Given the description of an element on the screen output the (x, y) to click on. 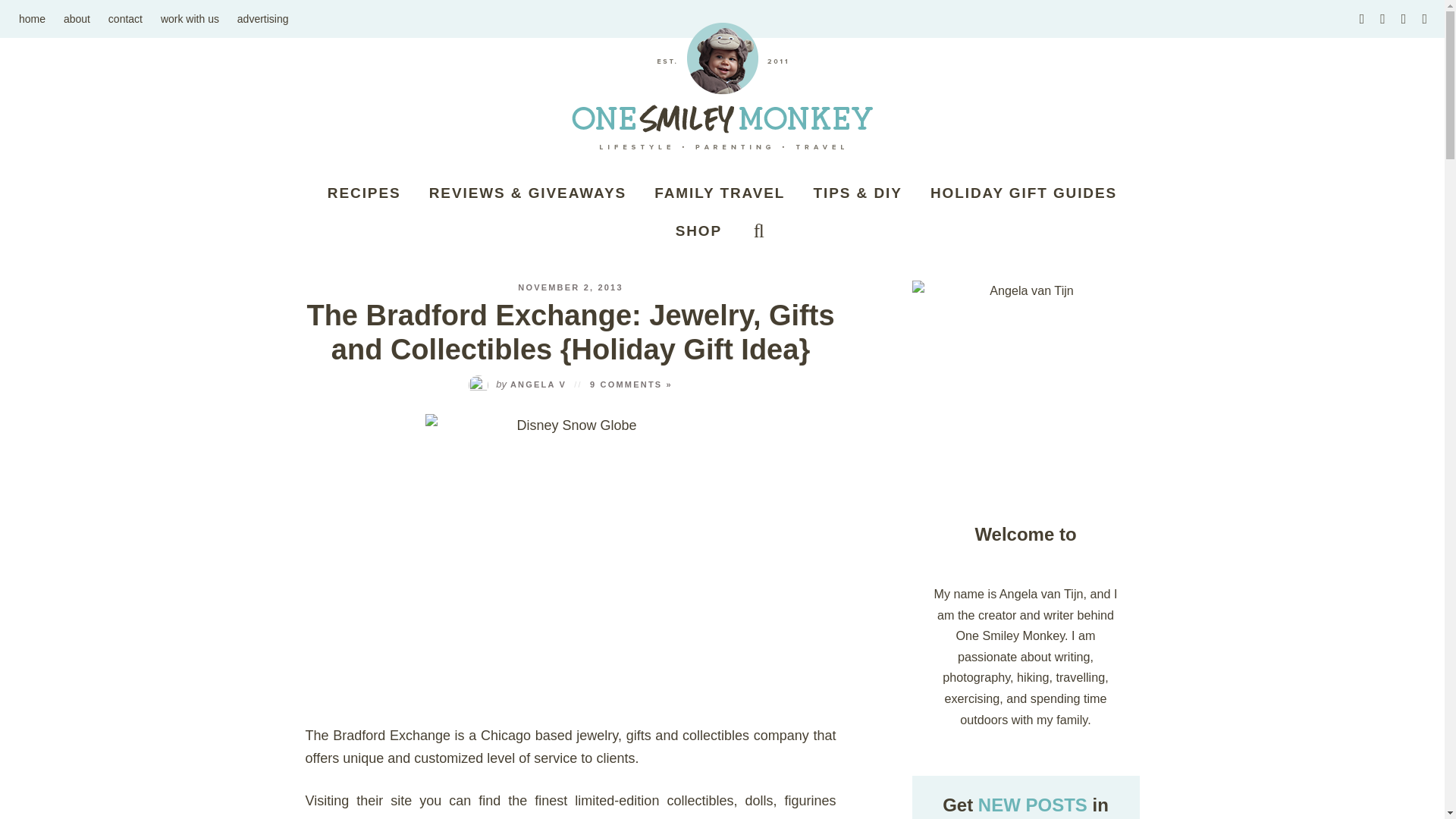
about (76, 18)
OneSmileyMonkey.com (722, 86)
contact (124, 18)
Facebook (1405, 18)
Pinterest (1384, 18)
work with us (189, 18)
Twitter (1423, 18)
Instagram (1364, 18)
home (31, 18)
